Given the description of an element on the screen output the (x, y) to click on. 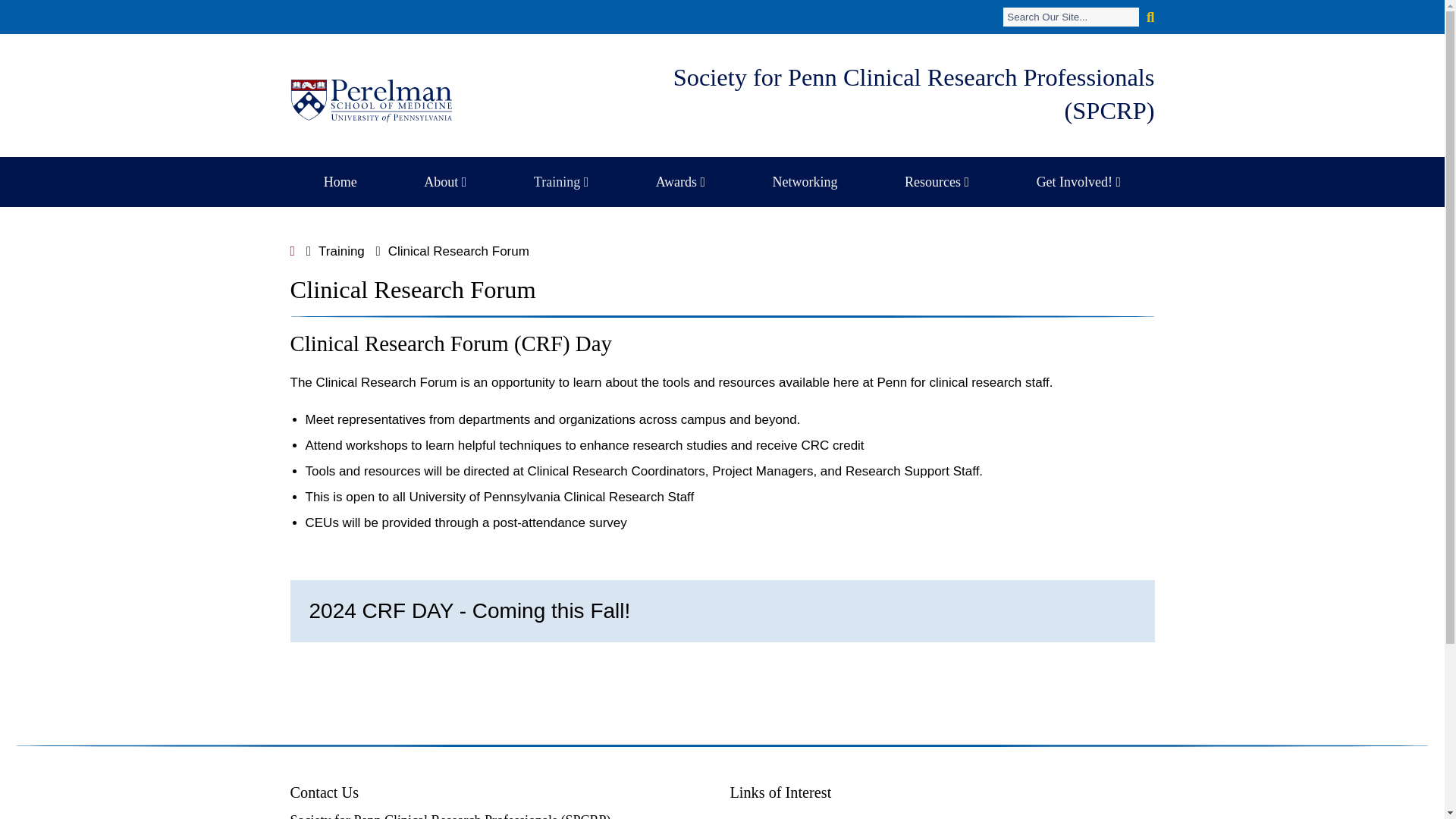
Training (560, 181)
Home (340, 182)
About (444, 181)
Search (1070, 16)
